Given the description of an element on the screen output the (x, y) to click on. 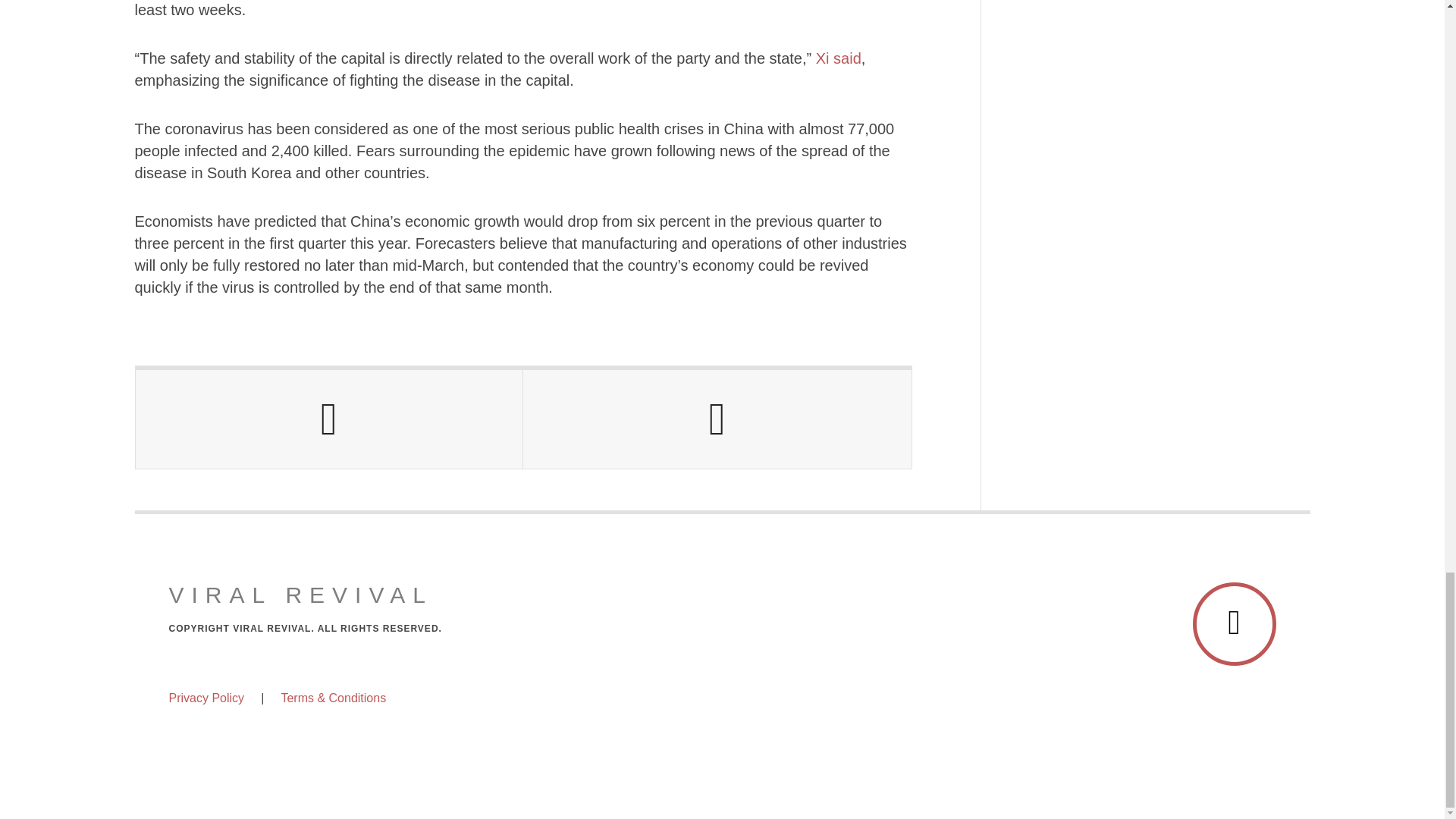
VIRAL REVIVAL (300, 594)
Viral Revival (300, 594)
Next Post (716, 419)
Previous Post (328, 419)
Privacy Policy (206, 697)
Xi said (835, 57)
